Given the description of an element on the screen output the (x, y) to click on. 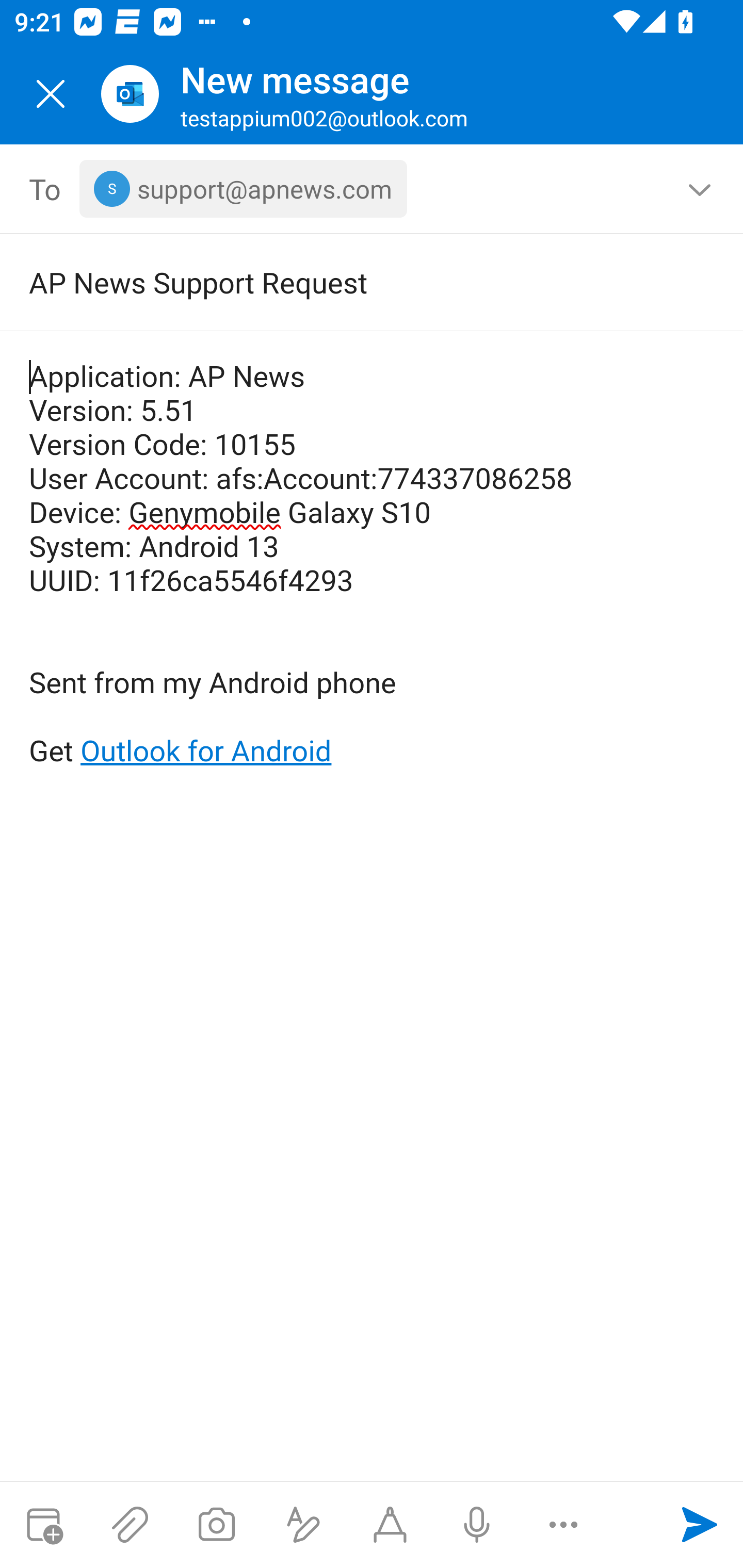
Close (50, 93)
To, 1 recipient <support@apnews.com> (371, 188)
AP News Support Request (342, 281)
Attach meeting (43, 1524)
Attach files (129, 1524)
Take a photo (216, 1524)
Show formatting options (303, 1524)
Start Ink compose (389, 1524)
Dictation (476, 1524)
More options (563, 1524)
Send (699, 1524)
